Given the description of an element on the screen output the (x, y) to click on. 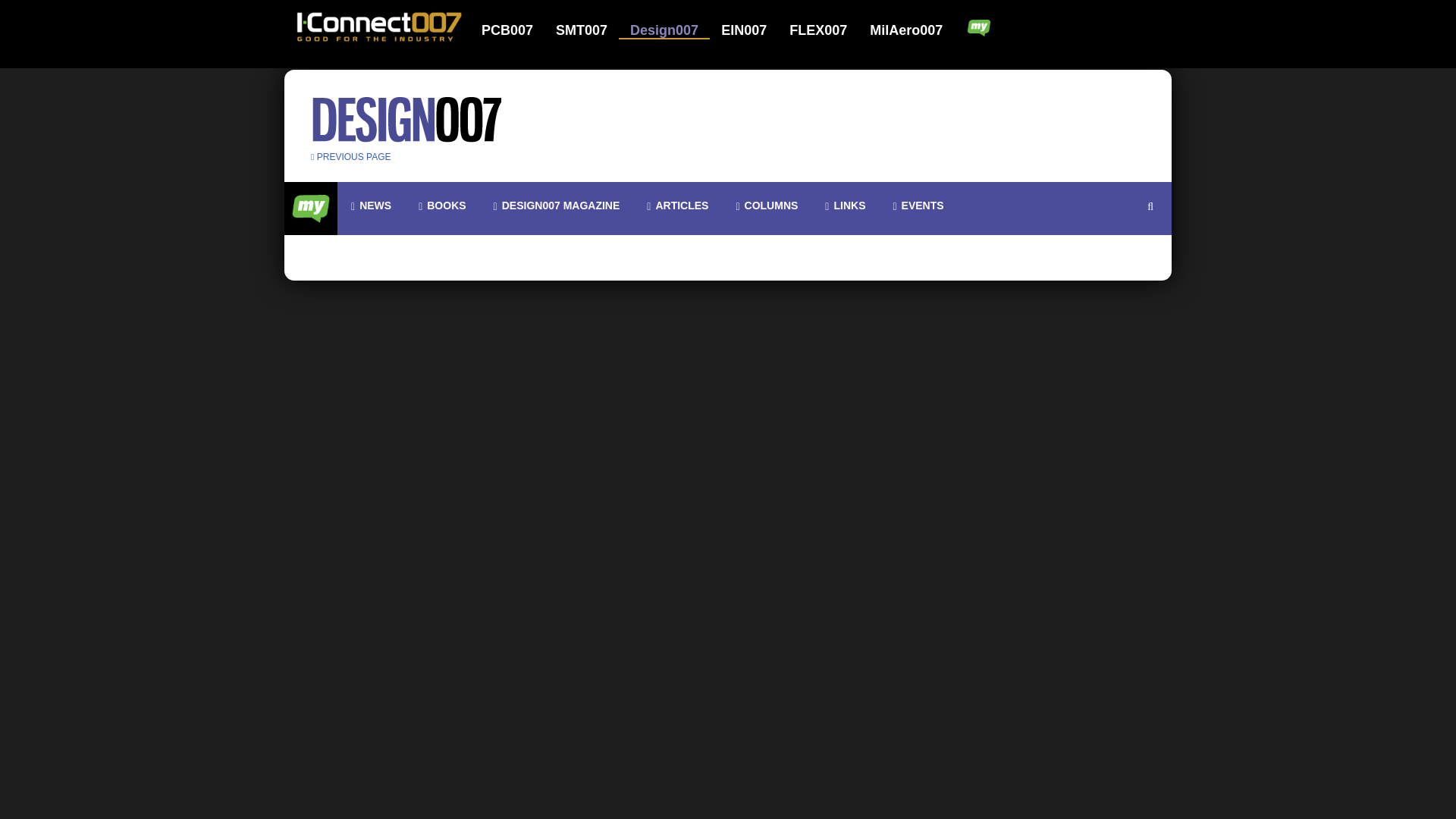
NEWS (370, 205)
MilAero007 (907, 30)
Design007 (673, 30)
PCB007 (516, 30)
SMT007 (590, 30)
DESIGN007 MAGAZINE (556, 205)
EIN007 (753, 30)
FLEX007 (827, 30)
PREVIOUS PAGE (351, 156)
BOOKS (441, 205)
